Given the description of an element on the screen output the (x, y) to click on. 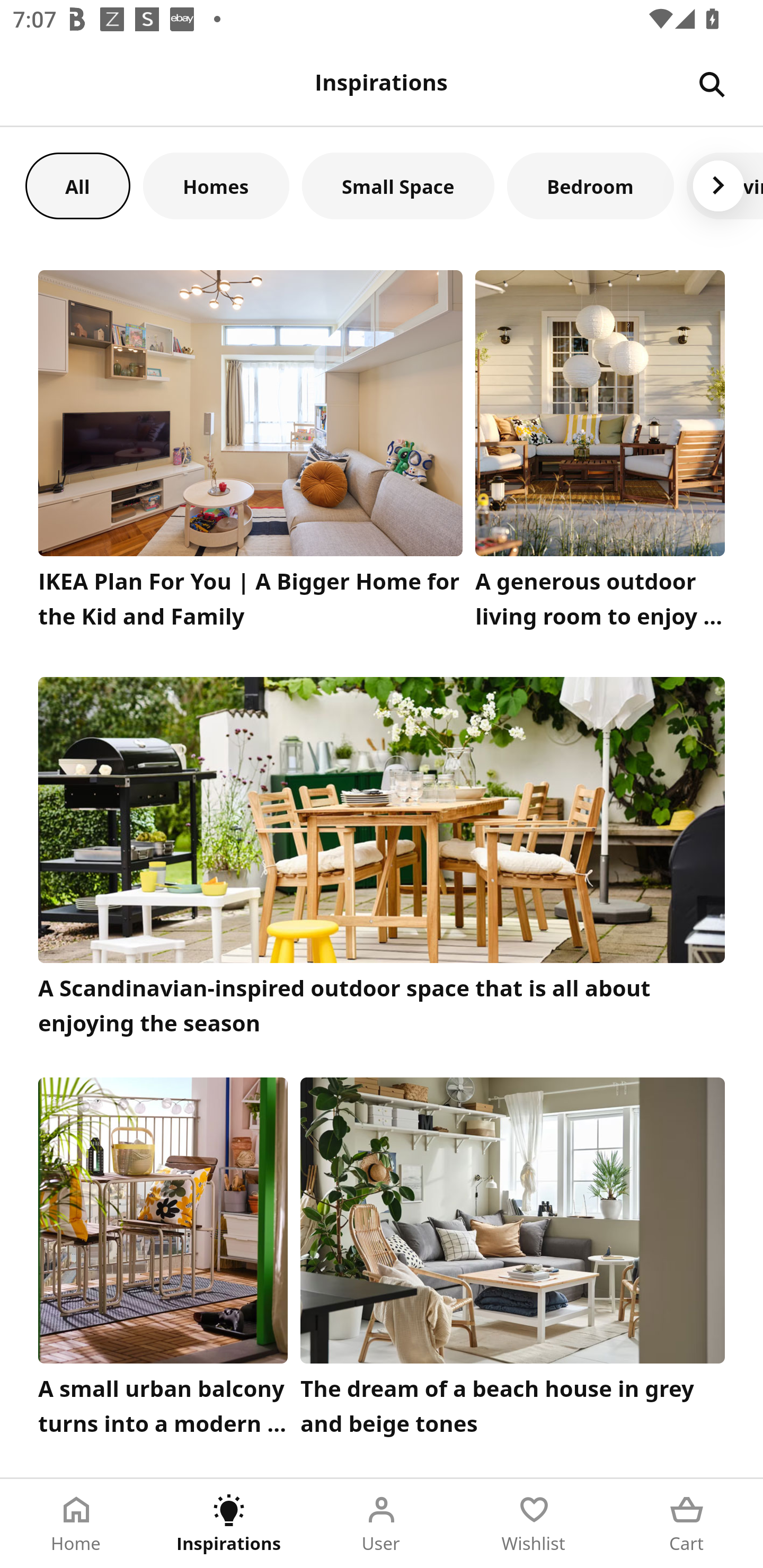
All (77, 185)
Homes (216, 185)
Small Space (398, 185)
Bedroom (590, 185)
The dream of a beach house in grey and beige tones (512, 1261)
Home
Tab 1 of 5 (76, 1522)
Inspirations
Tab 2 of 5 (228, 1522)
User
Tab 3 of 5 (381, 1522)
Wishlist
Tab 4 of 5 (533, 1522)
Cart
Tab 5 of 5 (686, 1522)
